Given the description of an element on the screen output the (x, y) to click on. 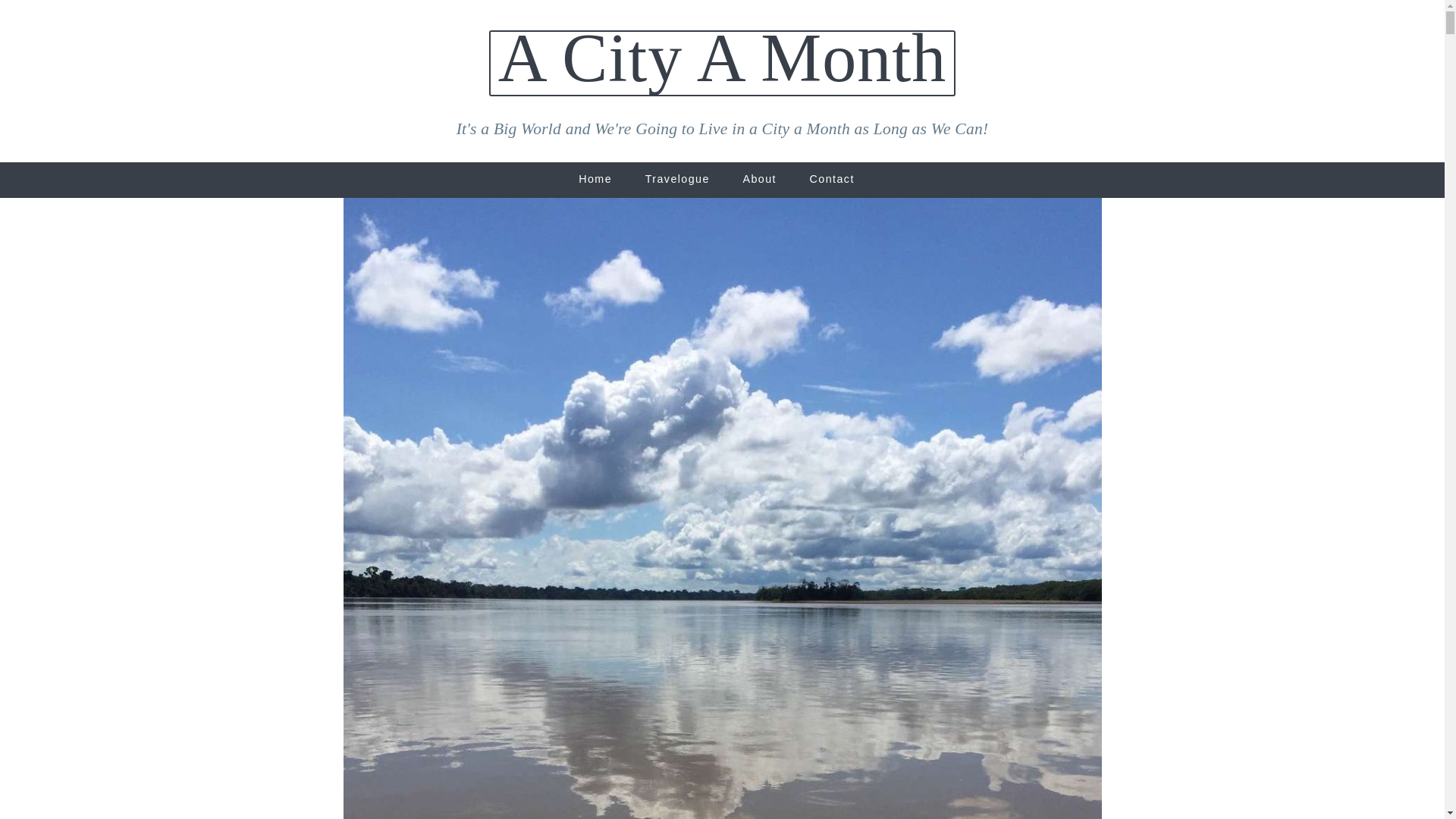
A City A Month (722, 58)
About (758, 179)
Contact (831, 179)
Travelogue (677, 179)
Home (595, 179)
